Given the description of an element on the screen output the (x, y) to click on. 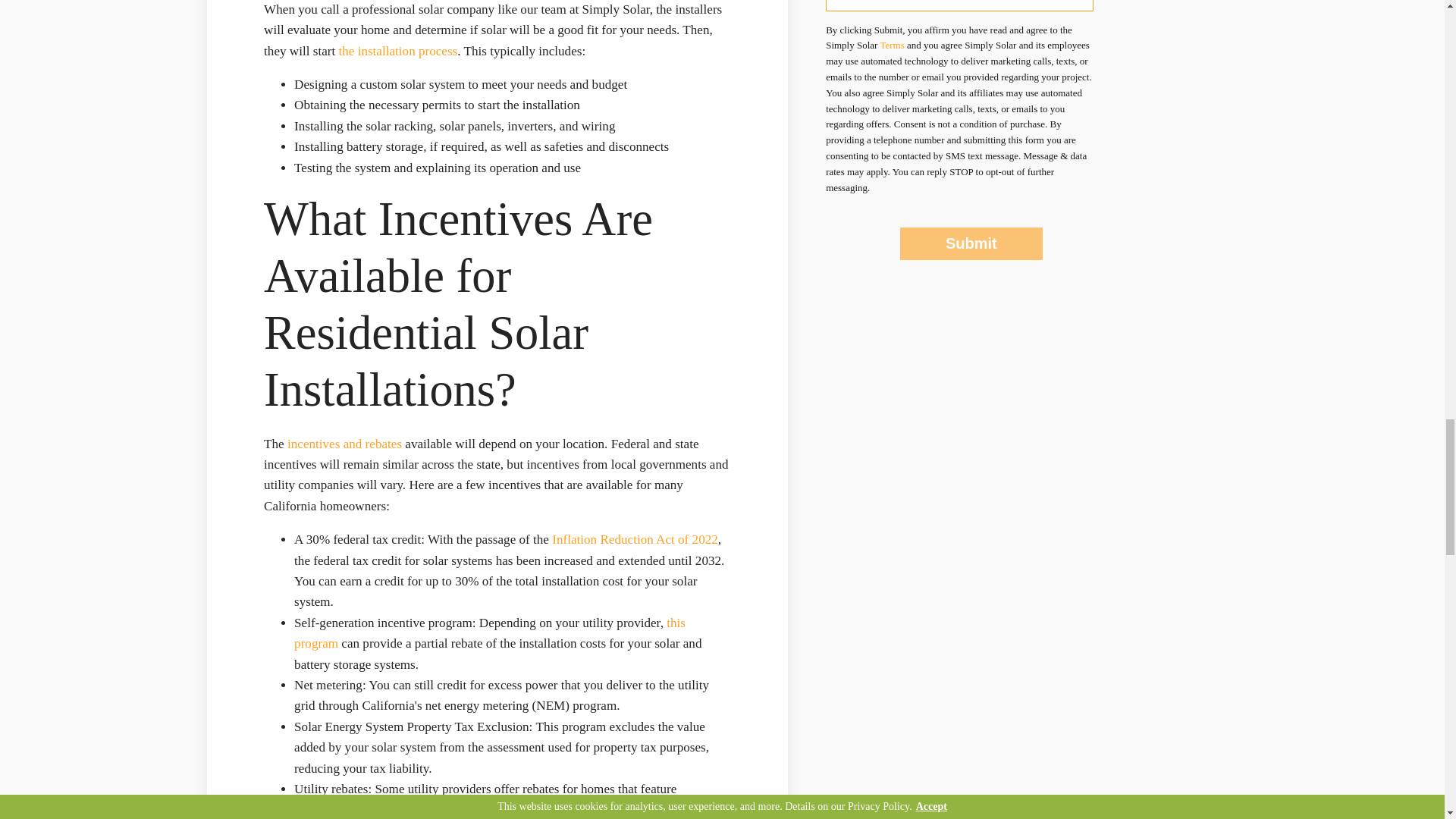
Submit (970, 243)
